Given the description of an element on the screen output the (x, y) to click on. 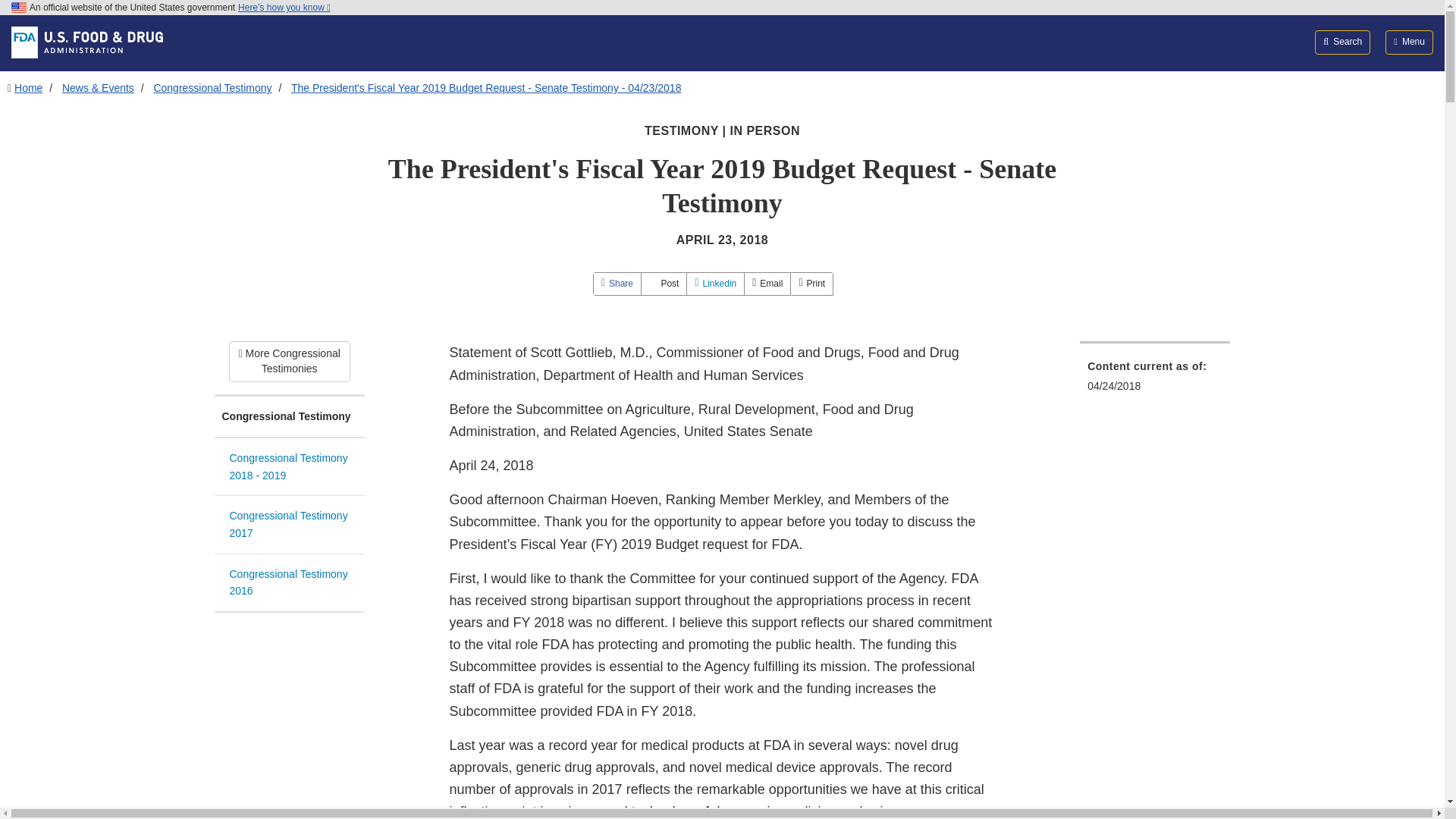
  Menu (1409, 42)
Print this page (811, 283)
  Search (1342, 42)
Congressional Testimony (289, 417)
